Given the description of an element on the screen output the (x, y) to click on. 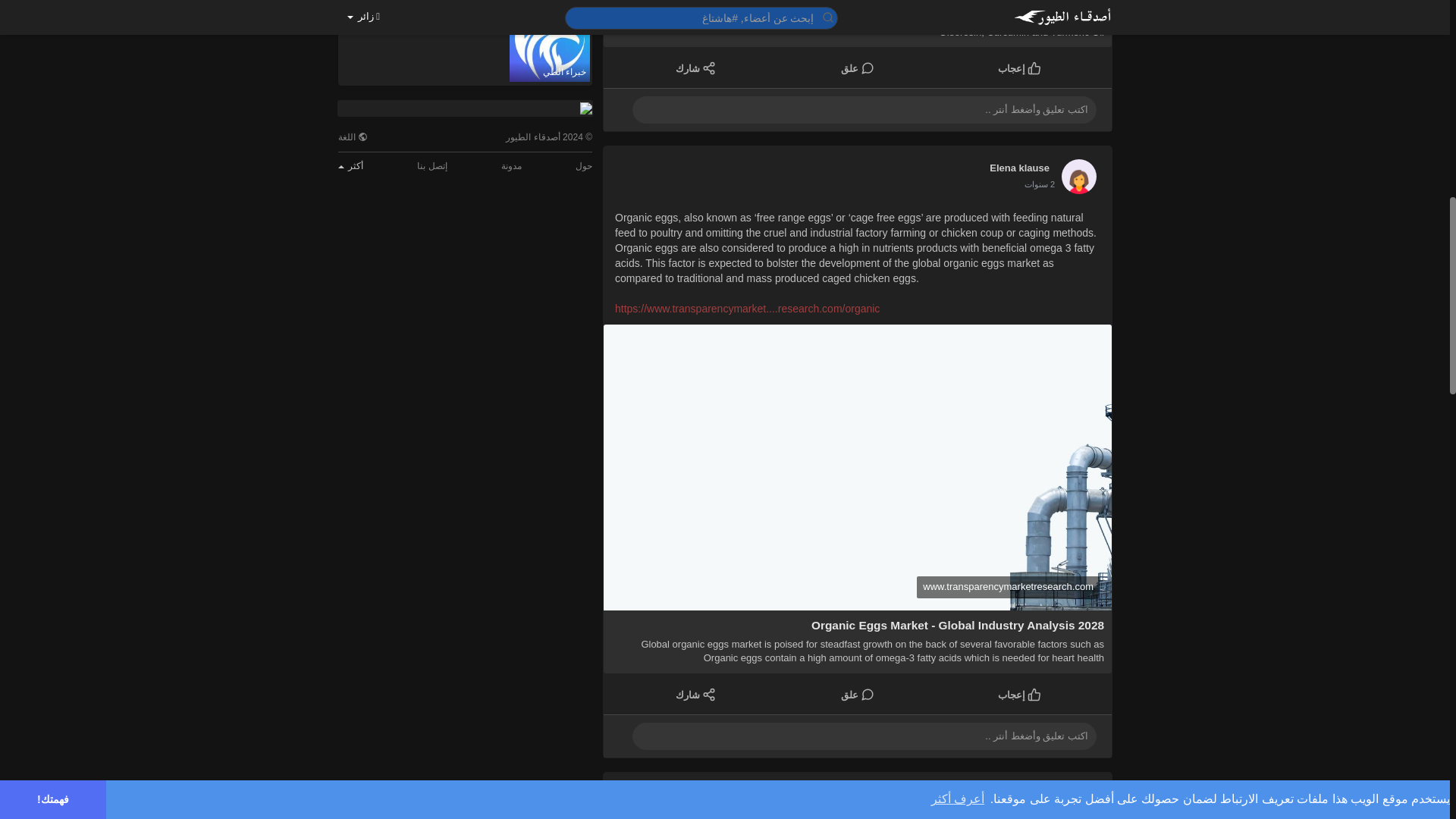
Elena klause (1019, 167)
Elena klause (1019, 793)
